Given the description of an element on the screen output the (x, y) to click on. 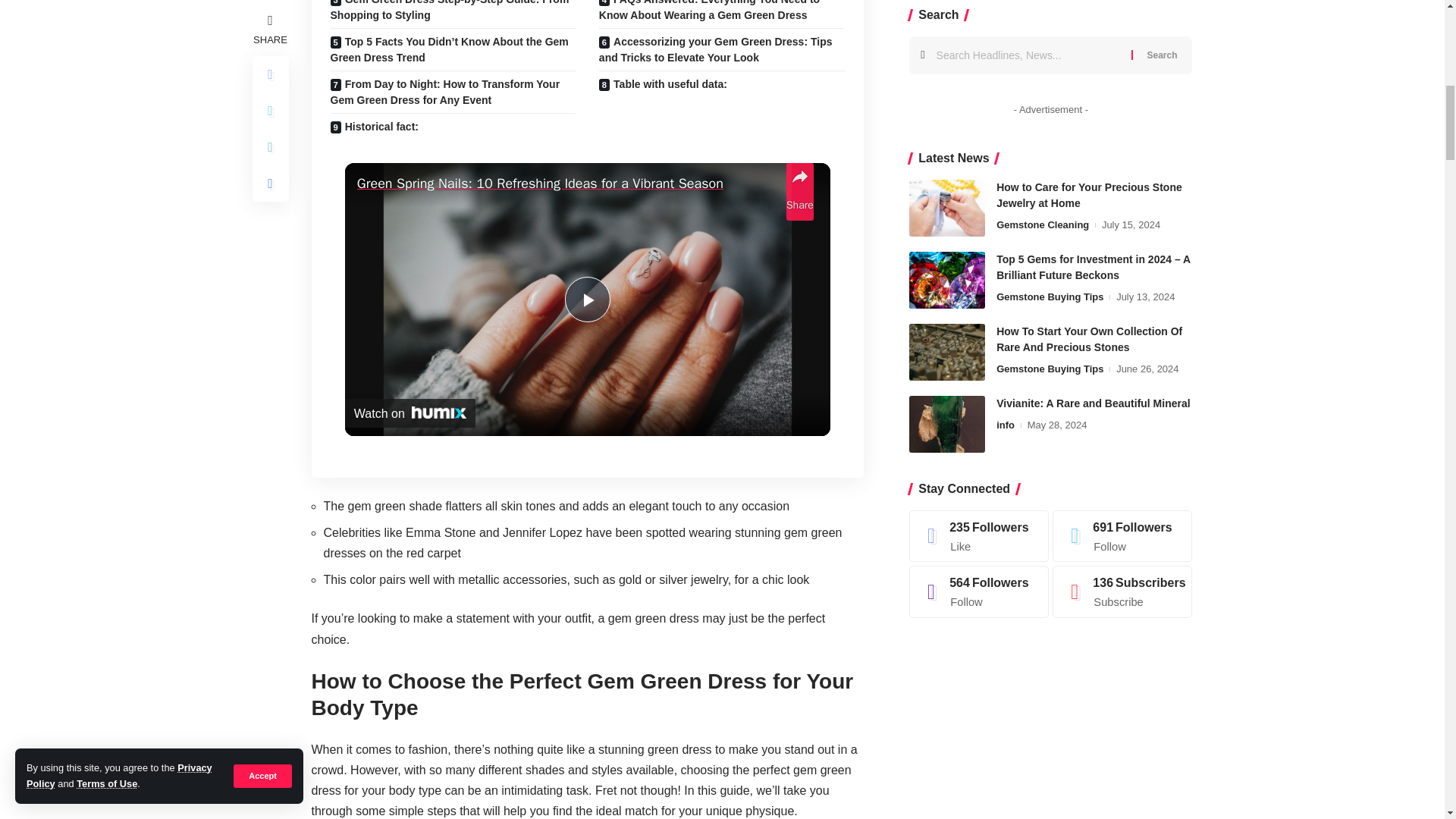
Play Video (587, 299)
